Given the description of an element on the screen output the (x, y) to click on. 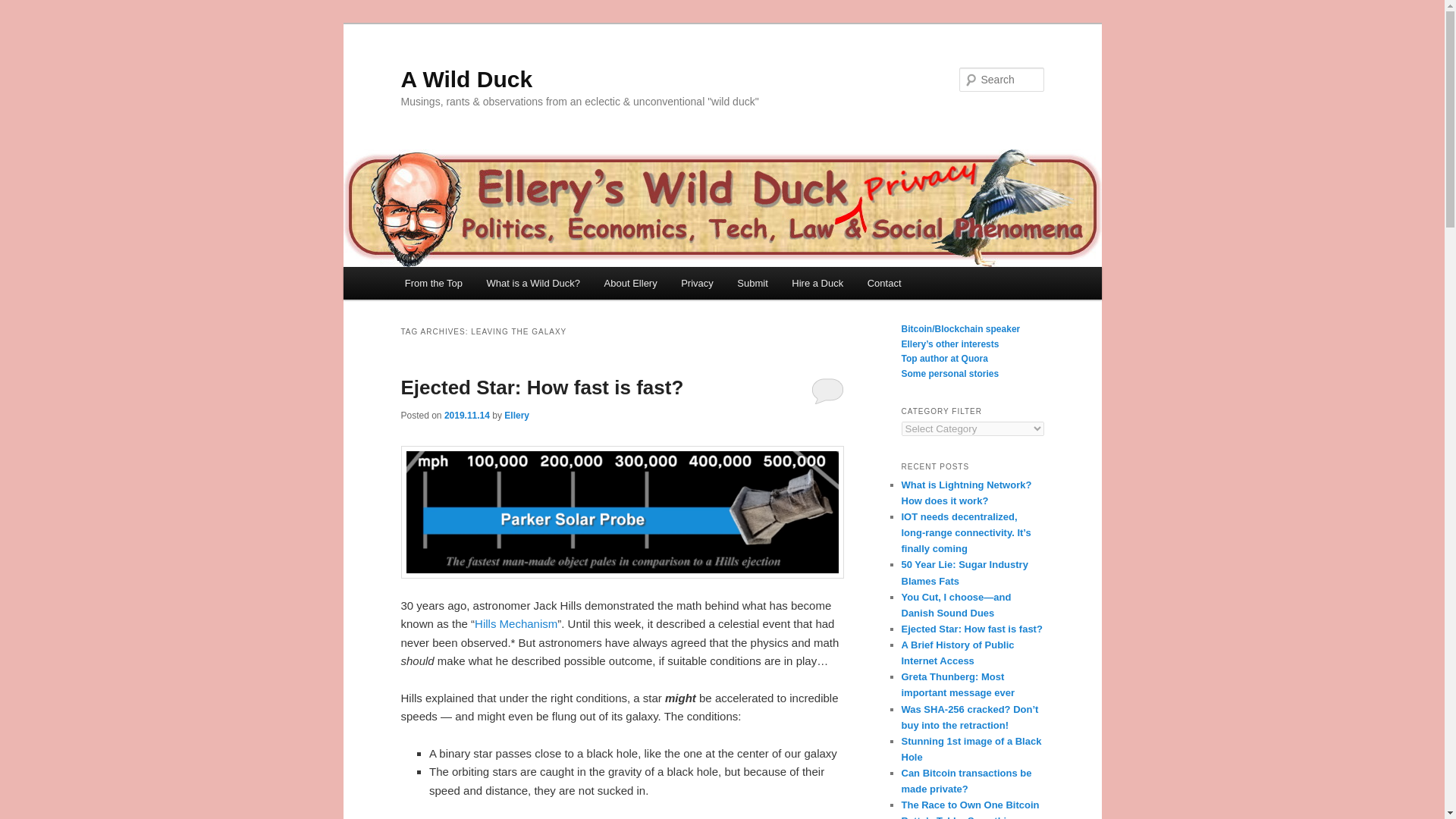
About Ellery (630, 282)
17:14 (466, 415)
Top author at Quora (944, 357)
2019.11.14 (466, 415)
Contact (884, 282)
Ejected Star: How fast is fast? (541, 386)
Ellery (516, 415)
View all posts by Ellery (516, 415)
Privacy (696, 282)
